Given the description of an element on the screen output the (x, y) to click on. 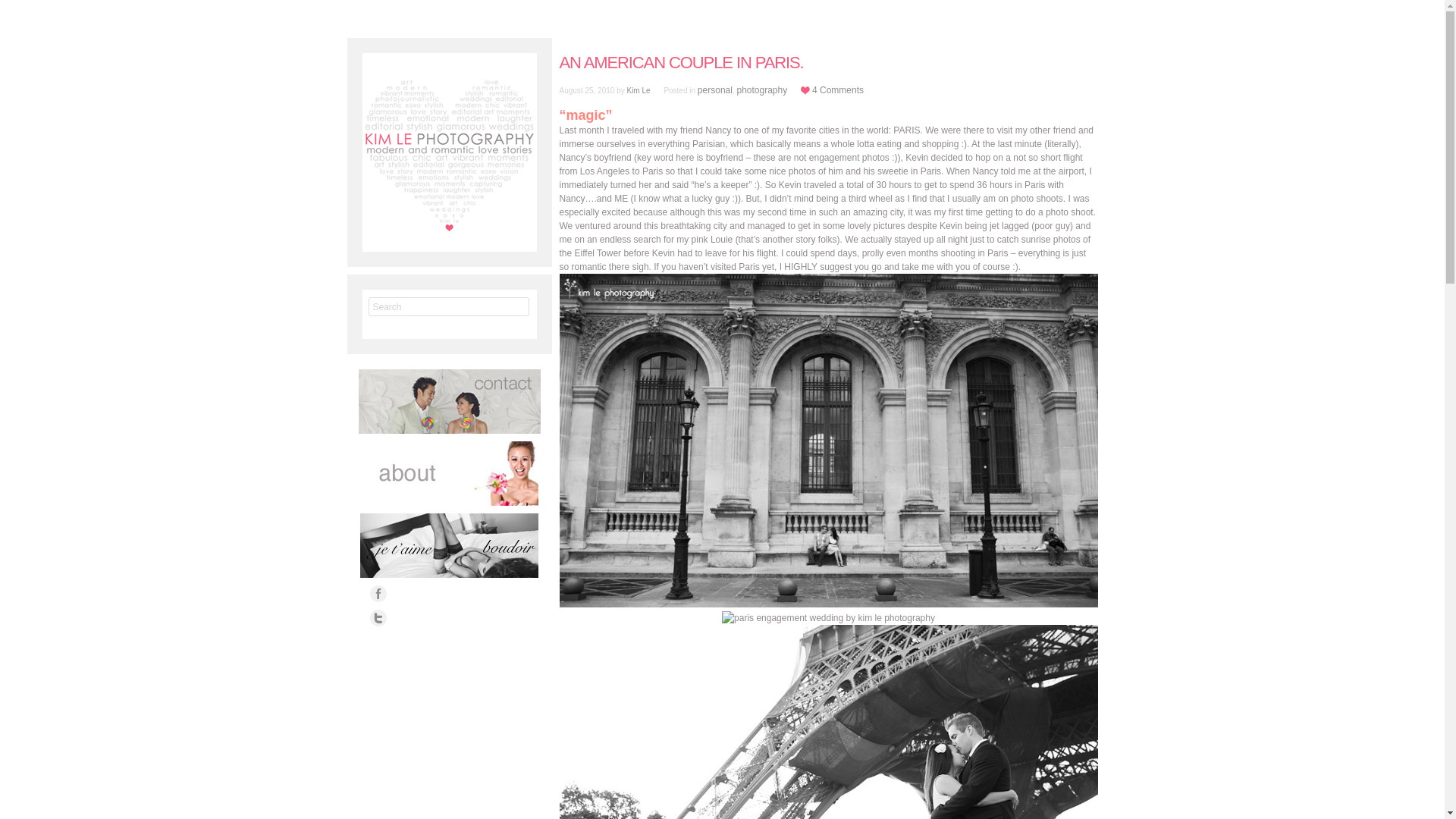
Kim Le (637, 90)
View all posts by Kim Le (637, 90)
photography (761, 90)
About (449, 473)
4 Comments (837, 90)
August 25, 2010 (586, 90)
Search (448, 306)
personal (714, 90)
Kim Le Photography (449, 147)
Kim Le Photography (449, 147)
